Given the description of an element on the screen output the (x, y) to click on. 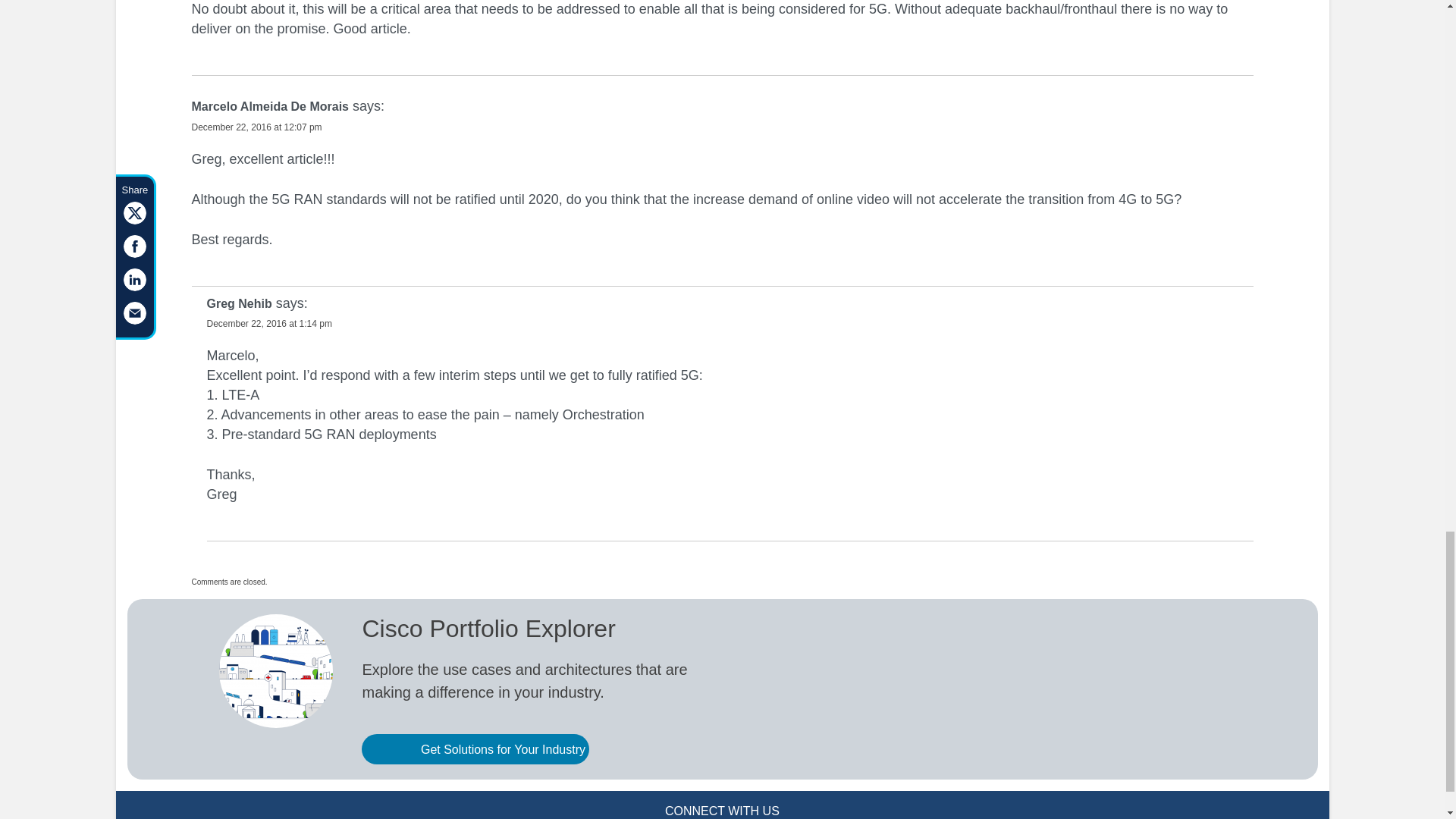
Get Solutions for Your Industry (475, 748)
December 22, 2016 at 1:14 pm (268, 323)
December 22, 2016 at 12:07 pm (255, 127)
